Given the description of an element on the screen output the (x, y) to click on. 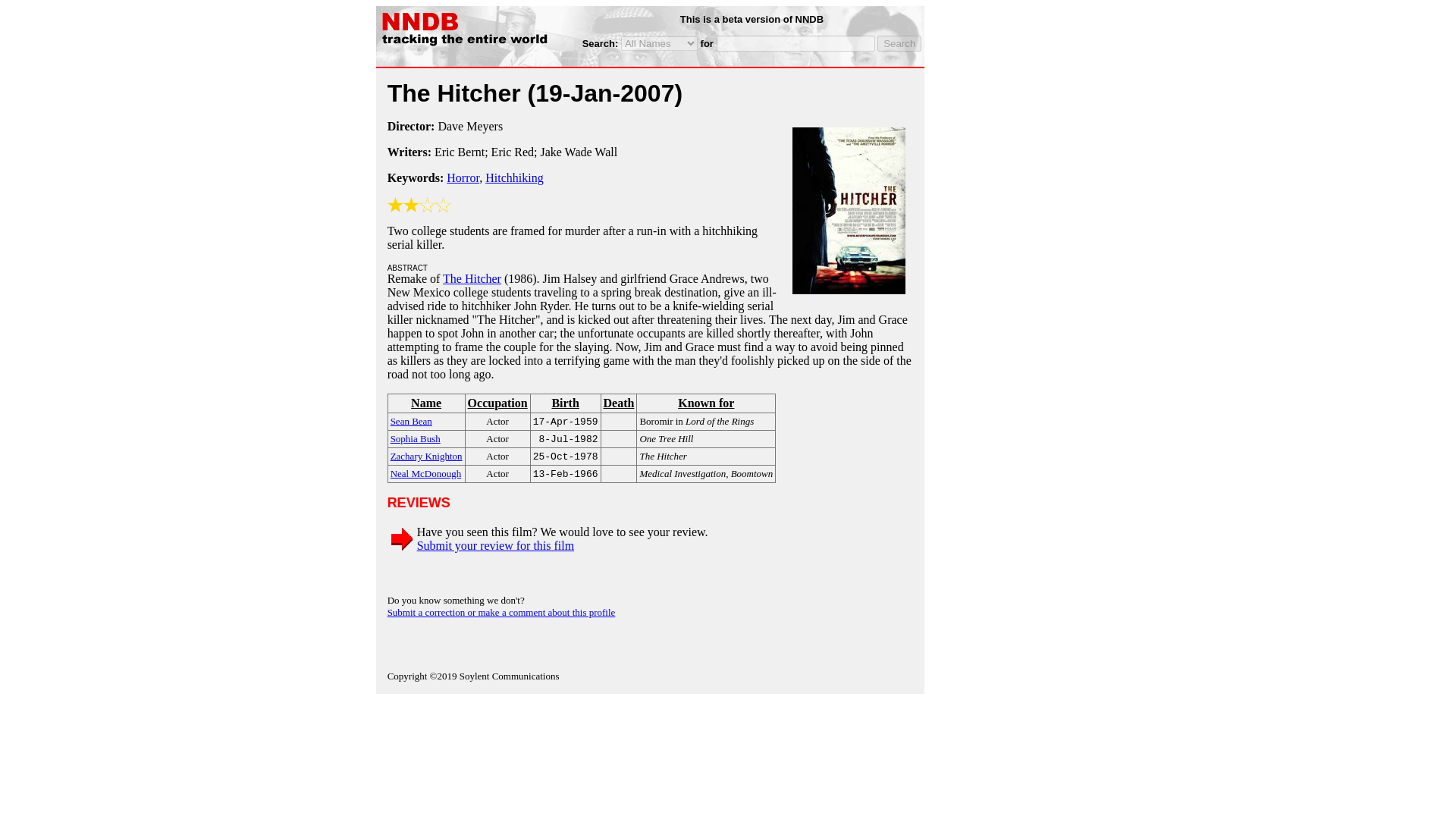
Sophia Bush (415, 437)
Occupation (497, 403)
Known for (706, 403)
Name (426, 403)
Death (619, 403)
Zachary Knighton (426, 454)
Horror (462, 177)
Neal McDonough (425, 472)
Hitchhiking (513, 177)
Search (899, 43)
Search (899, 43)
Sean Bean (411, 420)
Submit your review for this film (495, 545)
The Hitcher (471, 278)
Submit a correction or make a comment about this profile (501, 612)
